Given the description of an element on the screen output the (x, y) to click on. 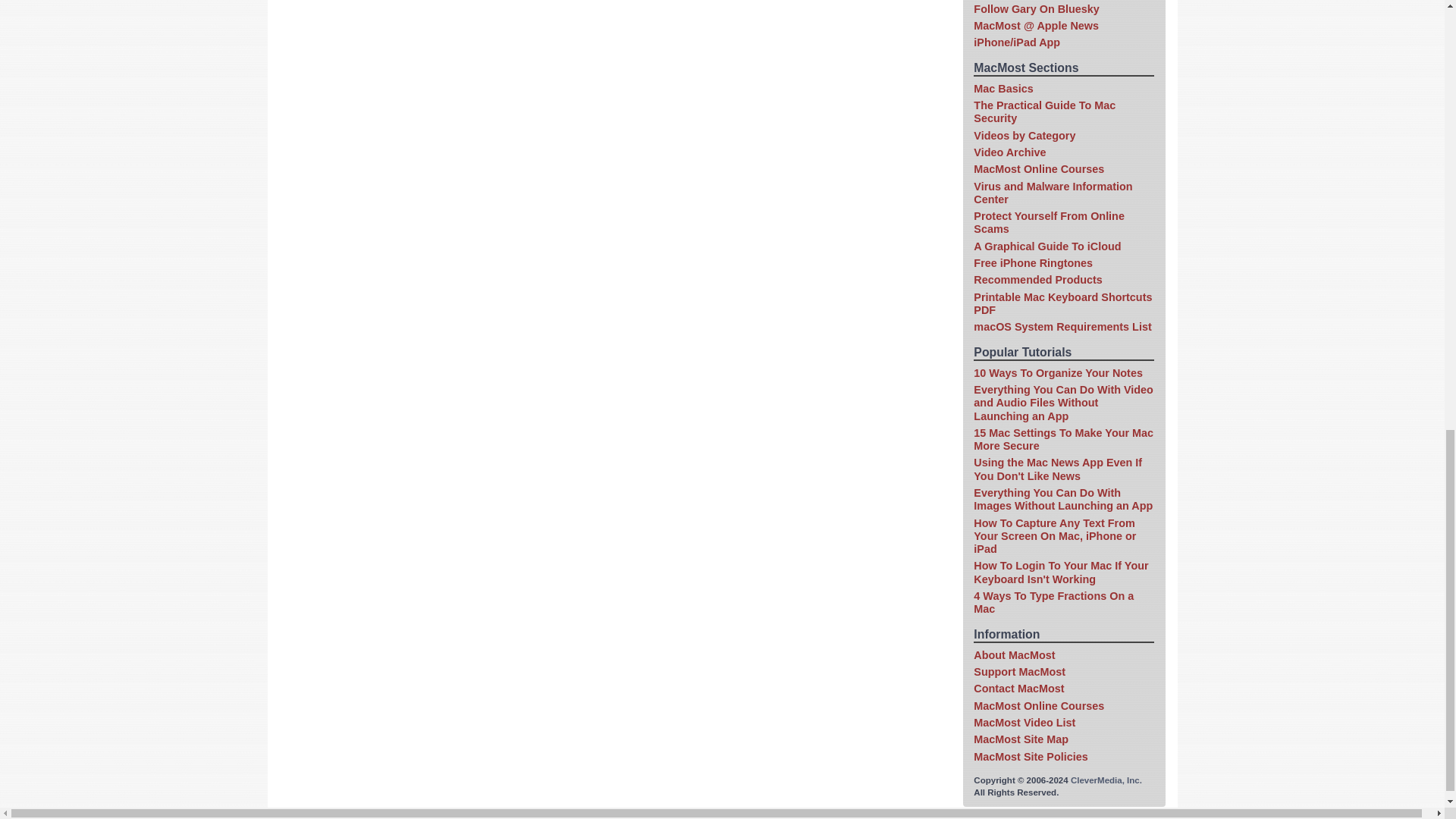
Video Archive (1009, 152)
Virus and Malware Information Center (1053, 192)
Protect Yourself From Online Scams (1049, 222)
Videos by Category (1024, 135)
The Practical Guide To Mac Security (1044, 111)
Follow Gary On Bluesky (1036, 9)
MacMost Online Courses (1038, 168)
Mac Basics (1003, 88)
